Given the description of an element on the screen output the (x, y) to click on. 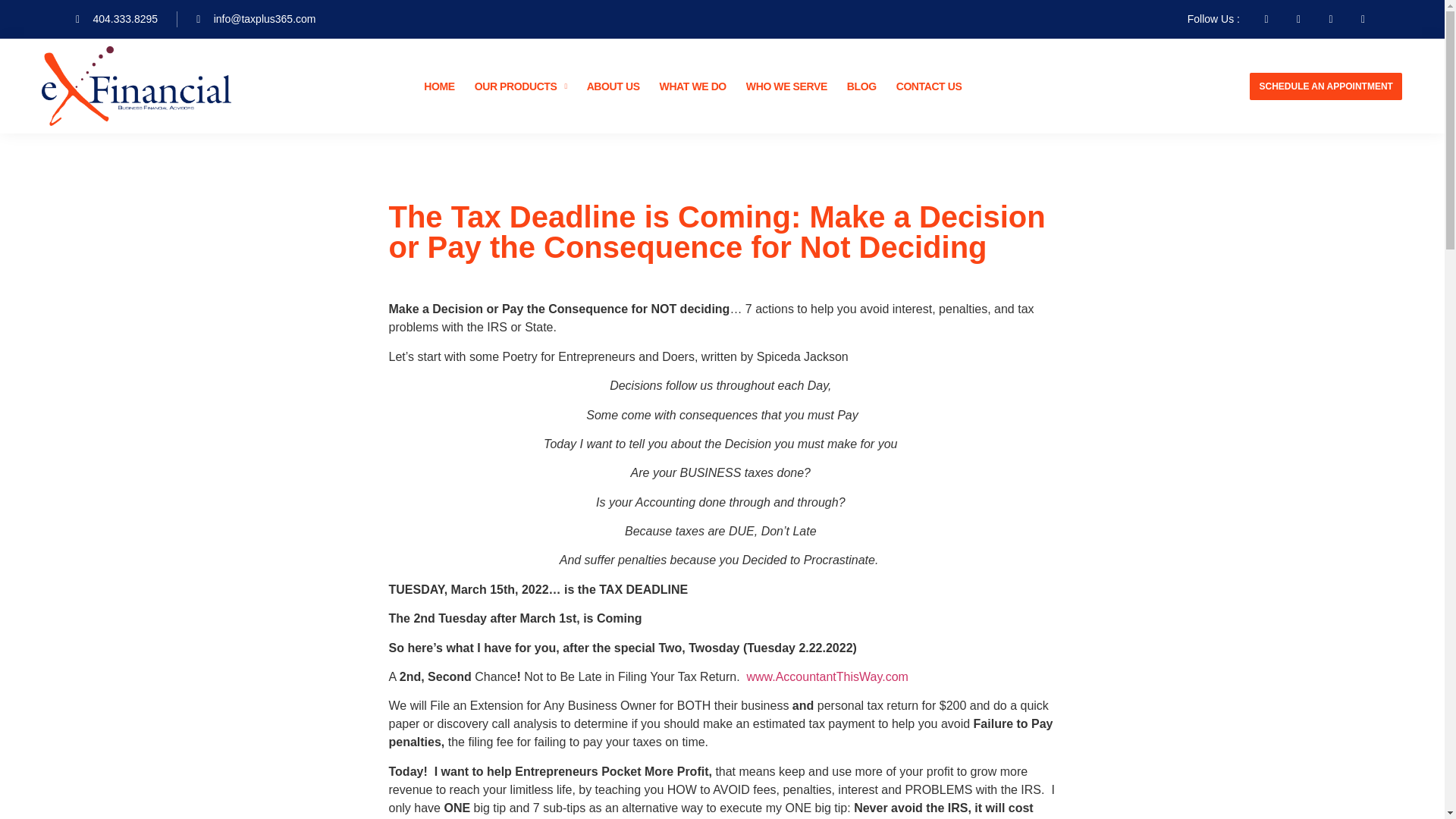
WHO WE SERVE (786, 86)
SCHEDULE AN APPOINTMENT (1324, 85)
ABOUT US (612, 86)
WHAT WE DO (692, 86)
OUR PRODUCTS (520, 86)
HOME (438, 86)
BLOG (861, 86)
CONTACT US (929, 86)
